Given the description of an element on the screen output the (x, y) to click on. 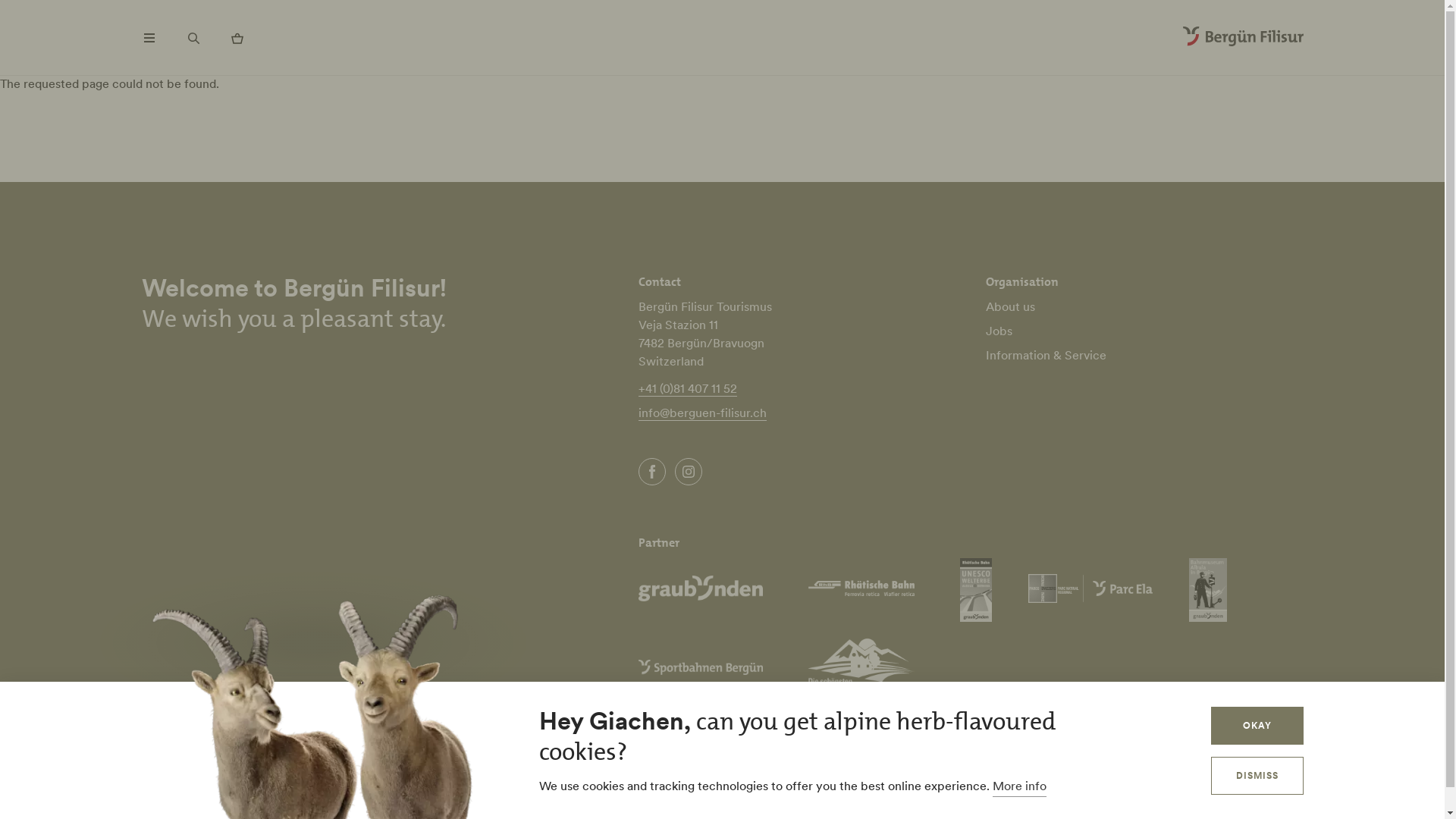
Information & Service Element type: text (1045, 354)
Jobs Element type: text (998, 330)
UNESCO Welterbe RhB Element type: hover (975, 589)
Parc Ela Element type: hover (1090, 589)
facebook Element type: text (651, 471)
About us Element type: text (1010, 305)
instagram Element type: text (688, 471)
Home Element type: hover (1243, 37)
SBA Sportbahnen AG Element type: hover (700, 668)
+41 (0)81 407 11 52 Element type: text (687, 388)
OKAY Element type: text (1257, 725)
info@berguen-filisur.ch Element type: text (797, 413)
More info Element type: text (1018, 787)
Bahnmuseum Albula Element type: hover (1207, 589)
DISMISS Element type: text (1257, 775)
graubuenden Element type: hover (700, 589)
